Given the description of an element on the screen output the (x, y) to click on. 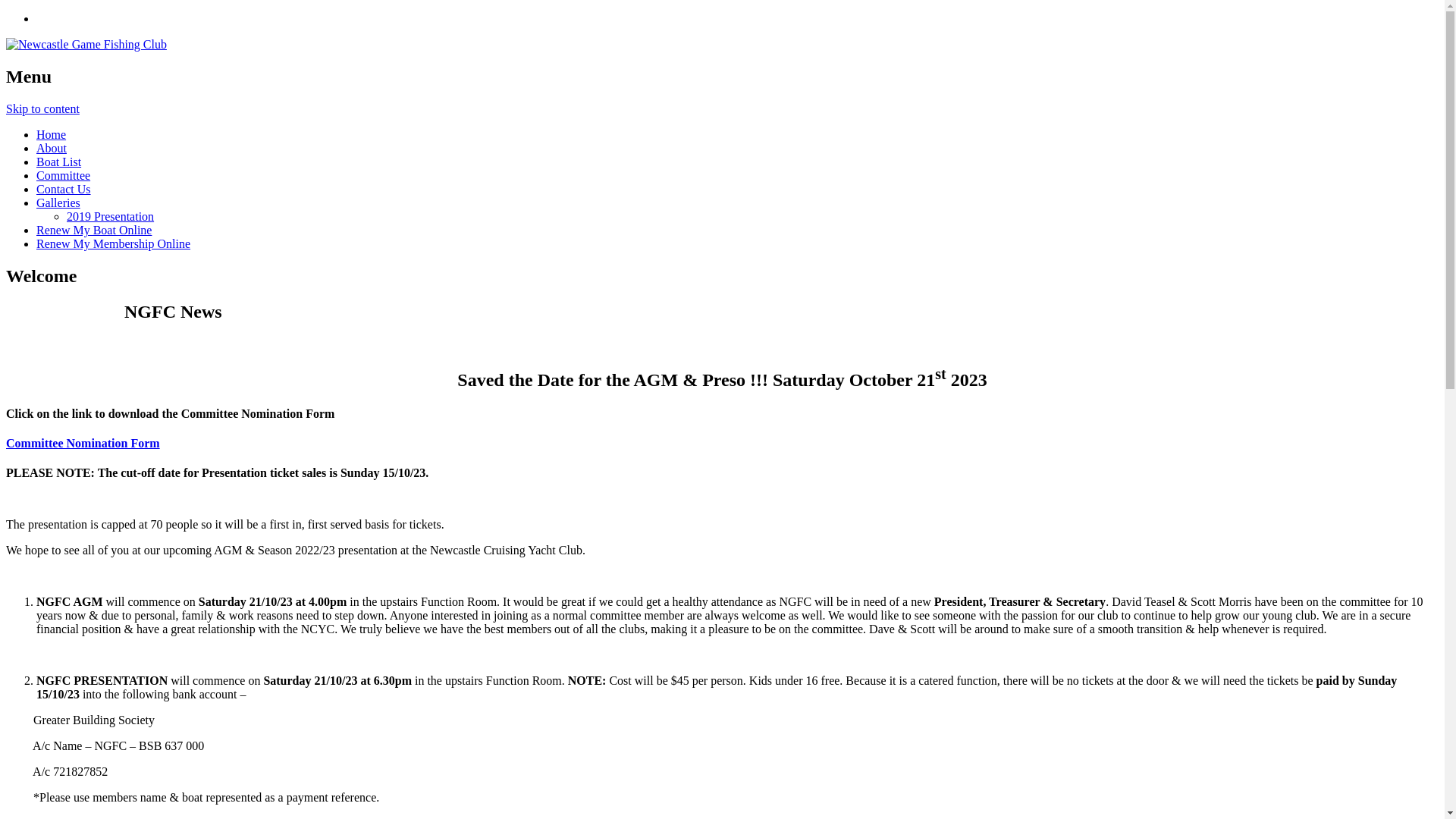
2019 Presentation Element type: text (109, 216)
Contact Us Element type: text (63, 188)
Committee Nomination Form Element type: text (83, 442)
Skip to content Element type: text (42, 108)
Newcastle Game Fishing Club Element type: hover (86, 43)
Home Element type: text (50, 134)
About Element type: text (51, 147)
Galleries Element type: text (58, 202)
Renew My Membership Online Element type: text (113, 243)
Renew My Boat Online Element type: text (93, 229)
Boat List Element type: text (58, 161)
Committee Element type: text (63, 175)
